Given the description of an element on the screen output the (x, y) to click on. 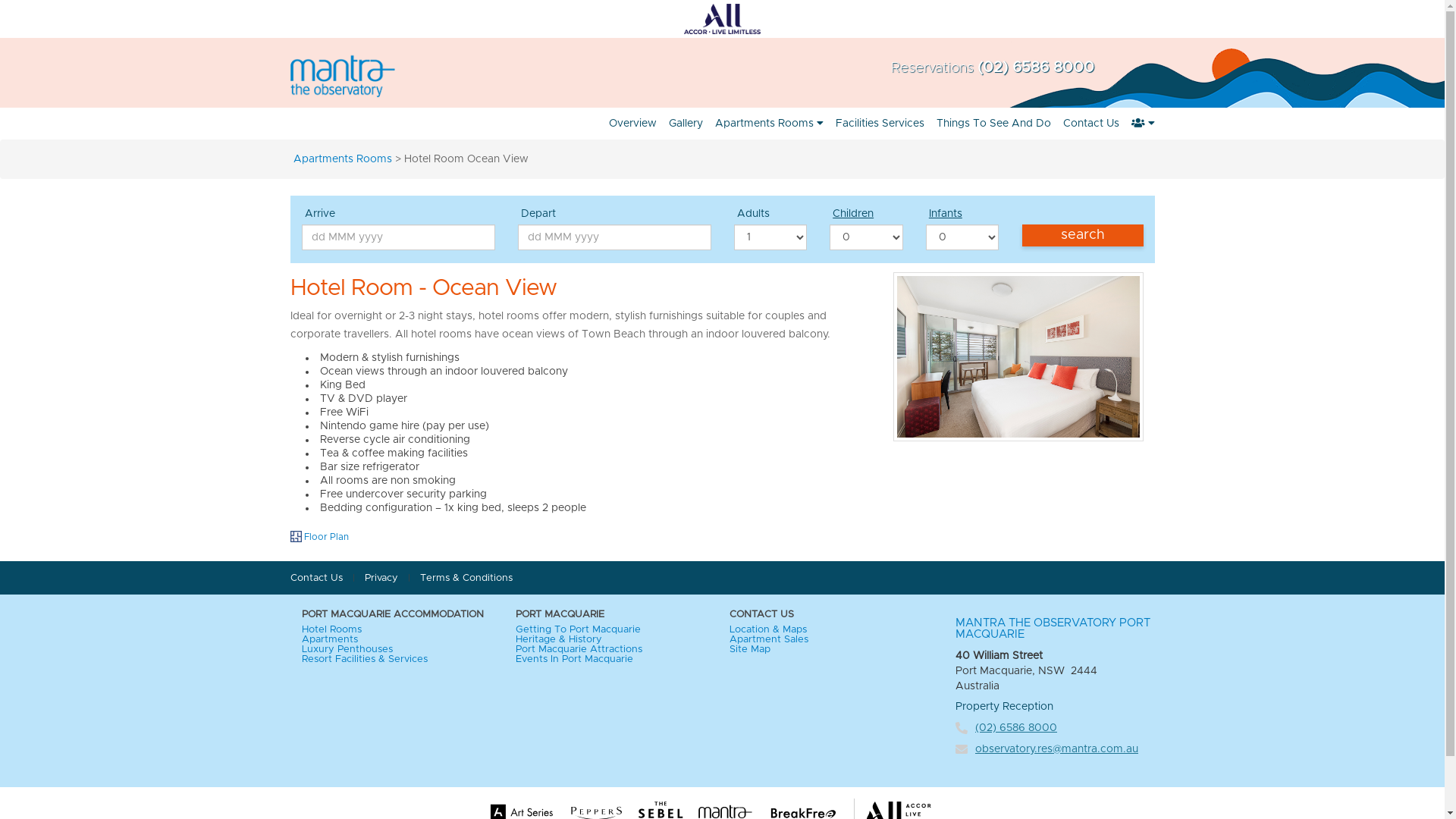
Gallery Element type: text (685, 123)
PORT MACQUARIE Element type: text (610, 614)
Port Macquarie Attractions Element type: text (578, 649)
Resort Facilities & Services Element type: text (364, 659)
Contact Us Element type: text (1091, 123)
CONTACT US Element type: text (824, 614)
Floor Plan Element type: text (318, 536)
observatory.res@mantra.com.au Element type: text (1056, 749)
Apartments Rooms Element type: text (768, 123)
Apartments Rooms Element type: text (341, 158)
PORT MACQUARIE ACCOMMODATION Element type: text (396, 614)
Things To See And Do Element type: text (992, 123)
Location & Maps Element type: text (767, 629)
All Element type: hover (722, 18)
All | Accor Live Limitless Element type: hover (722, 18)
Hotel Rooms Element type: text (331, 629)
search Element type: text (1082, 235)
Site Map Element type: text (749, 649)
Contact Us Element type: text (315, 578)
Facilities Services Element type: text (879, 123)
Apartment Sales Element type: text (768, 639)
Luxury Penthouses Element type: text (346, 649)
(02) 6586 8000 Element type: text (1034, 67)
Apartments Element type: text (329, 639)
Mantra The Observatory Element type: hover (355, 75)
Privacy Element type: text (380, 578)
(02) 6586 8000 Element type: text (1016, 727)
Heritage & History Element type: text (558, 639)
Getting To Port Macquarie Element type: text (577, 629)
Events In Port Macquarie Element type: text (574, 659)
Overview Element type: text (631, 123)
Terms & Conditions Element type: text (466, 578)
